Given the description of an element on the screen output the (x, y) to click on. 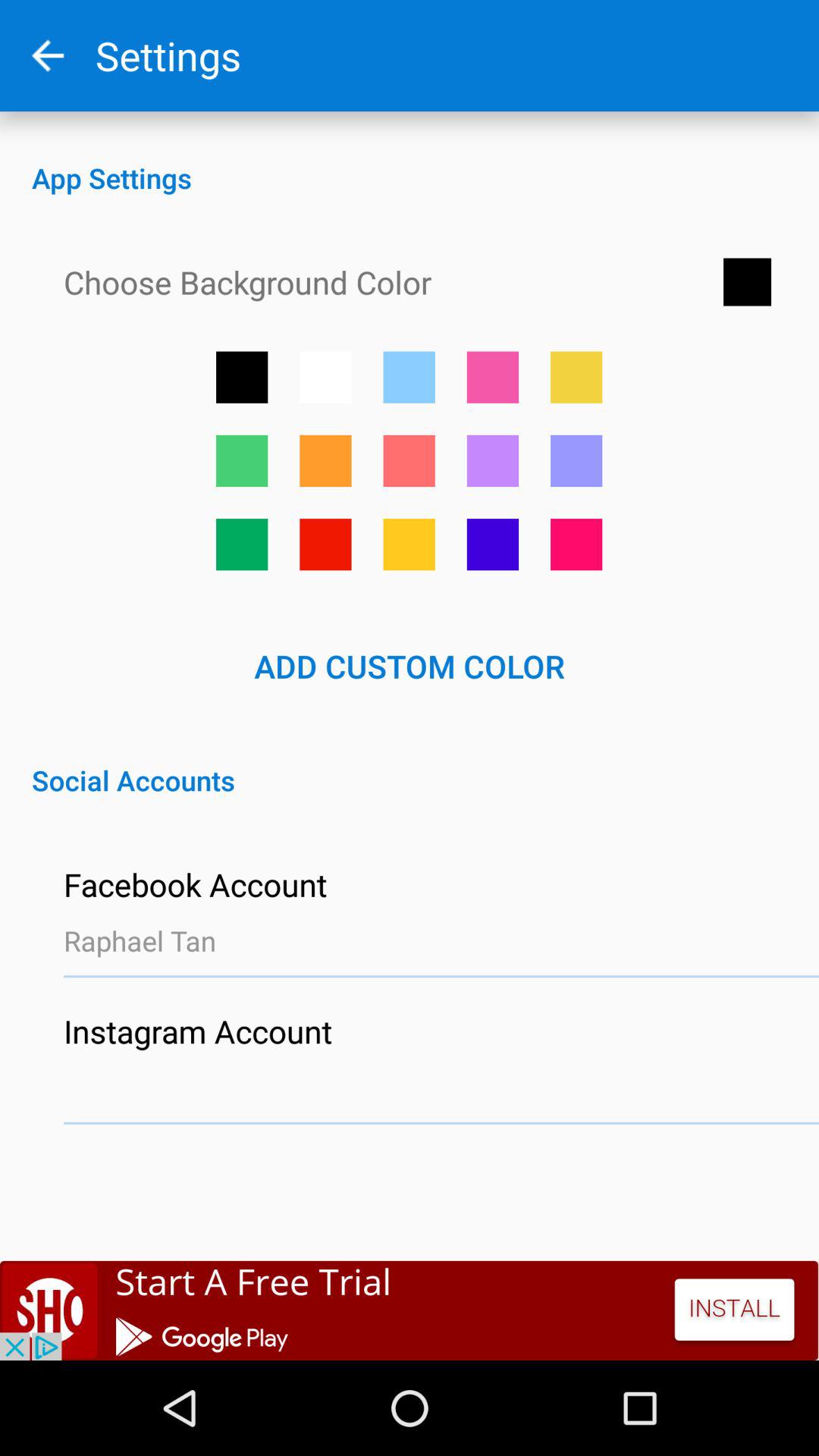
change the background color (492, 544)
